Given the description of an element on the screen output the (x, y) to click on. 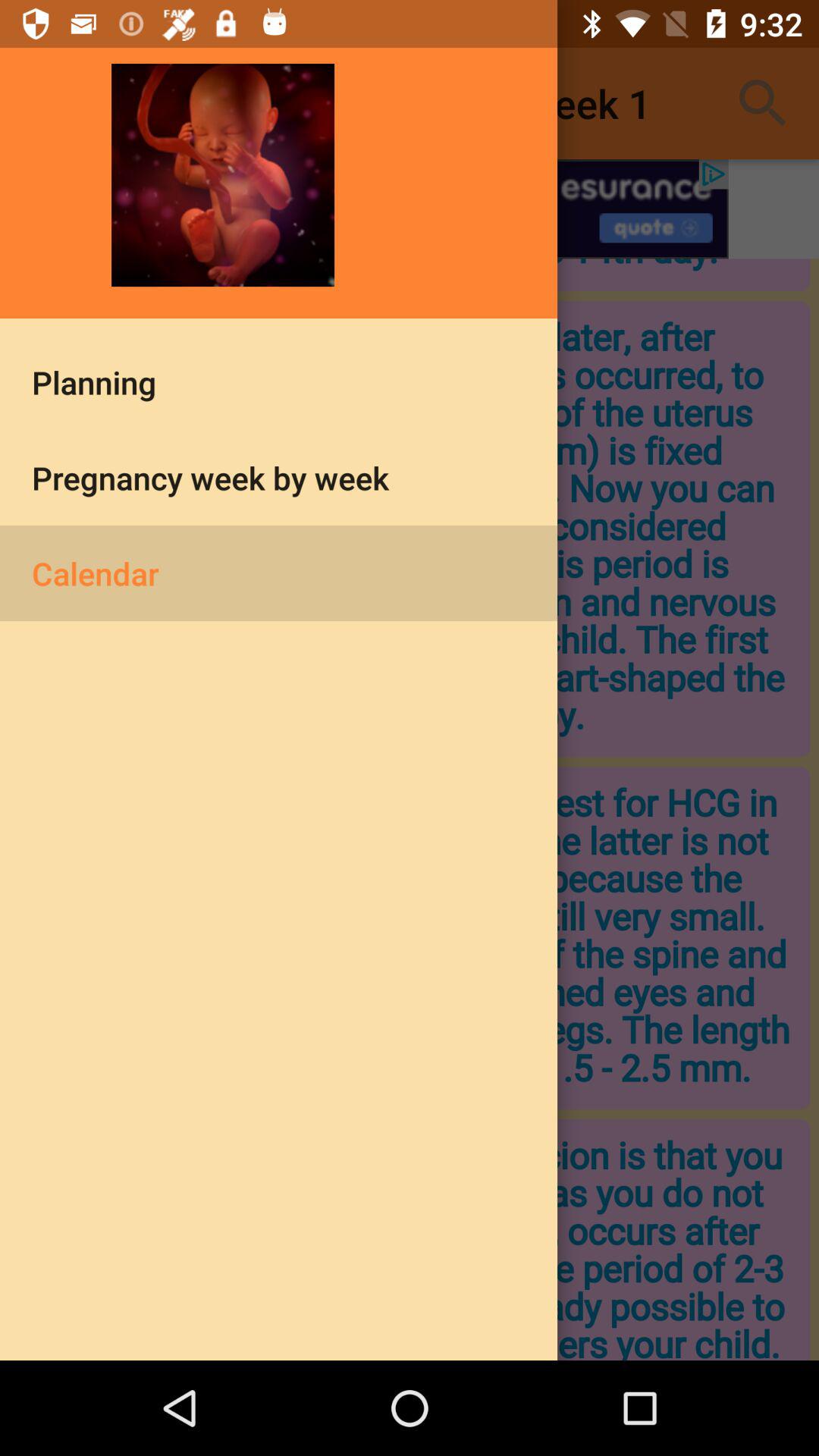
click advertisement (409, 208)
